Given the description of an element on the screen output the (x, y) to click on. 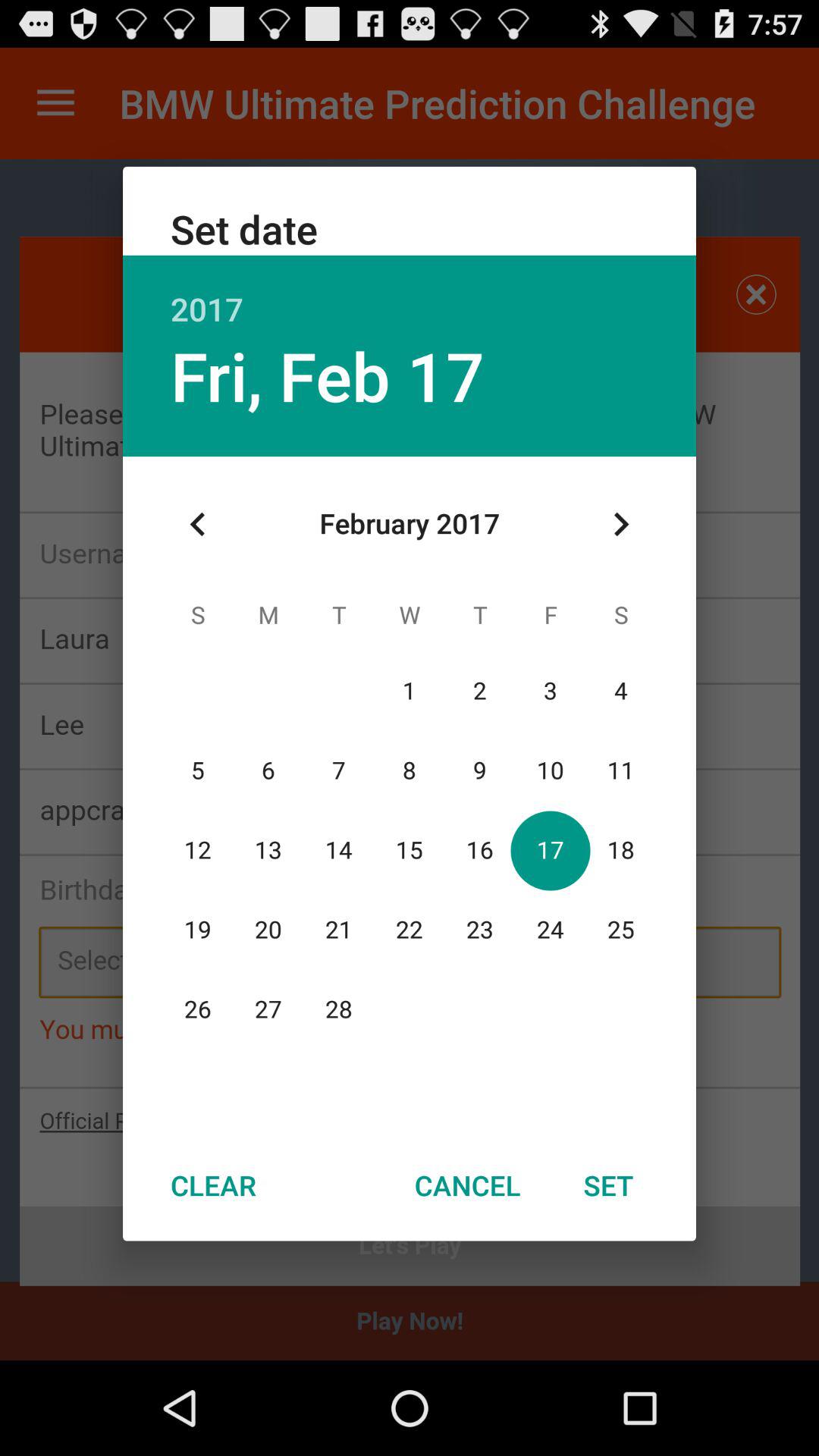
select the icon to the left of the cancel item (213, 1185)
